Given the description of an element on the screen output the (x, y) to click on. 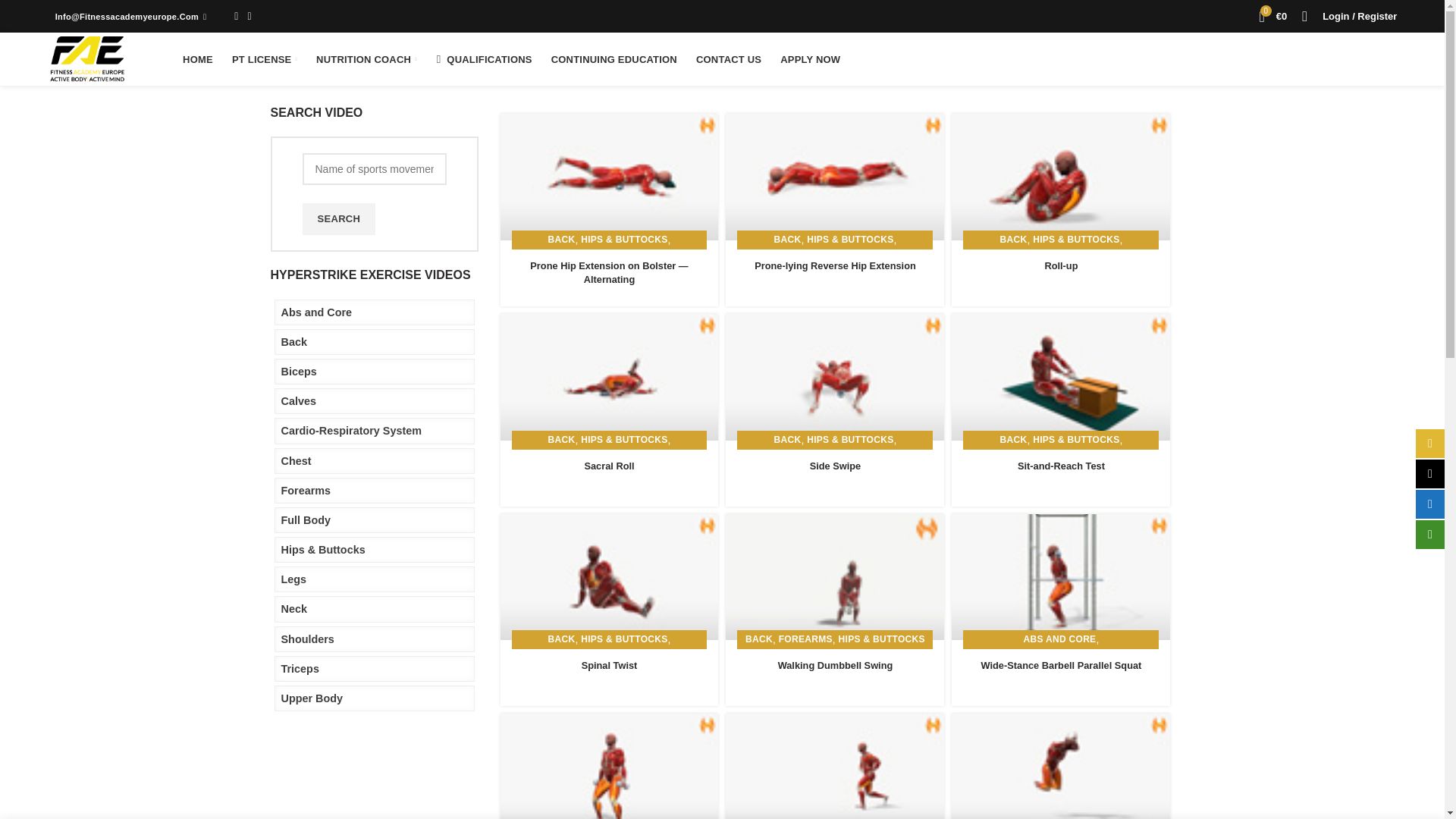
CONTACT US (727, 58)
Cardio-Respiratory System (374, 430)
SEARCH (338, 219)
CONTINUING EDUCATION (613, 58)
HOME (197, 58)
Calves (374, 401)
Facebook (236, 15)
Abs and Core (374, 312)
NUTRITION COACH (365, 58)
QUALIFICATIONS (483, 58)
APPLY NOW (809, 58)
Full Body (374, 519)
Instagram (249, 15)
Forearms (374, 490)
Biceps (374, 371)
